Given the description of an element on the screen output the (x, y) to click on. 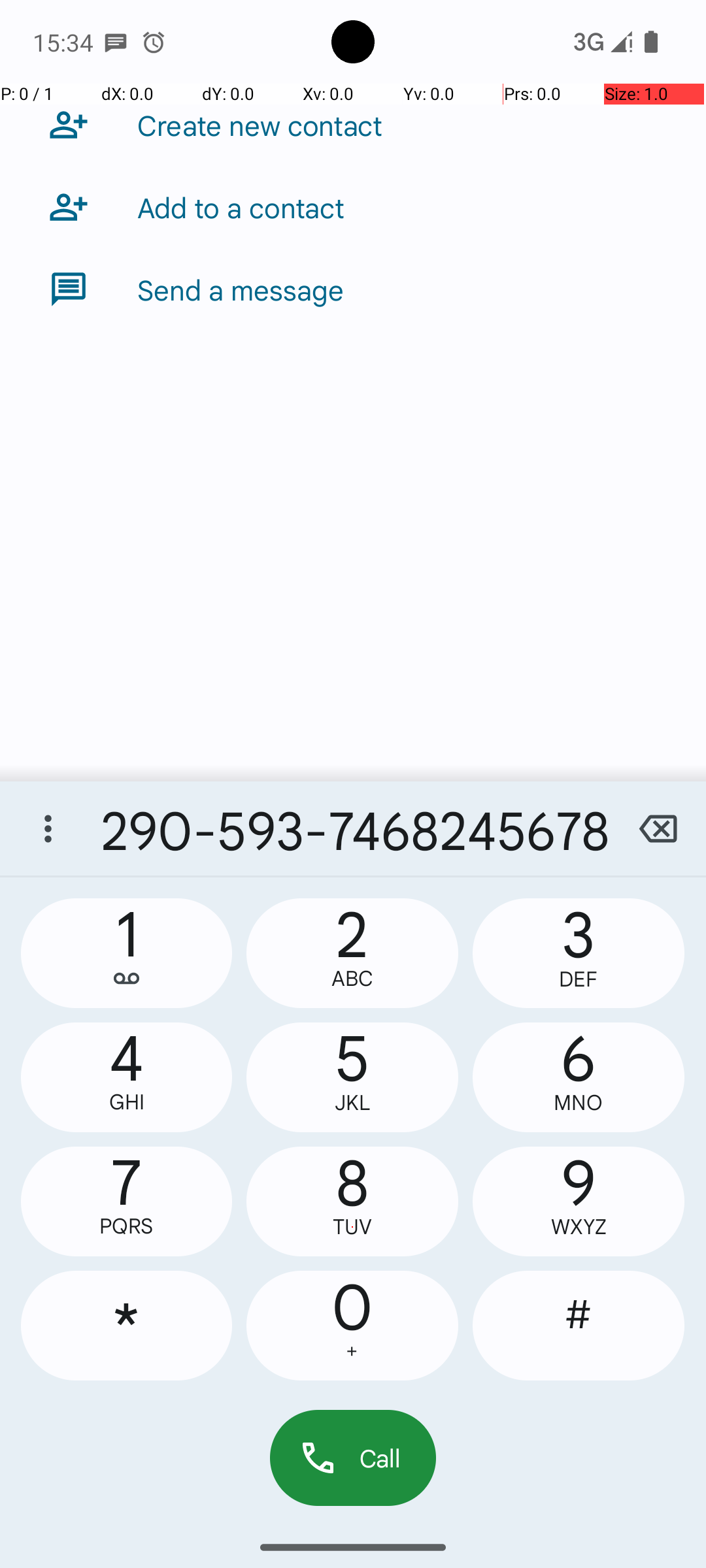
+1 290-593-7468245678 Element type: android.widget.EditText (352, 828)
